Given the description of an element on the screen output the (x, y) to click on. 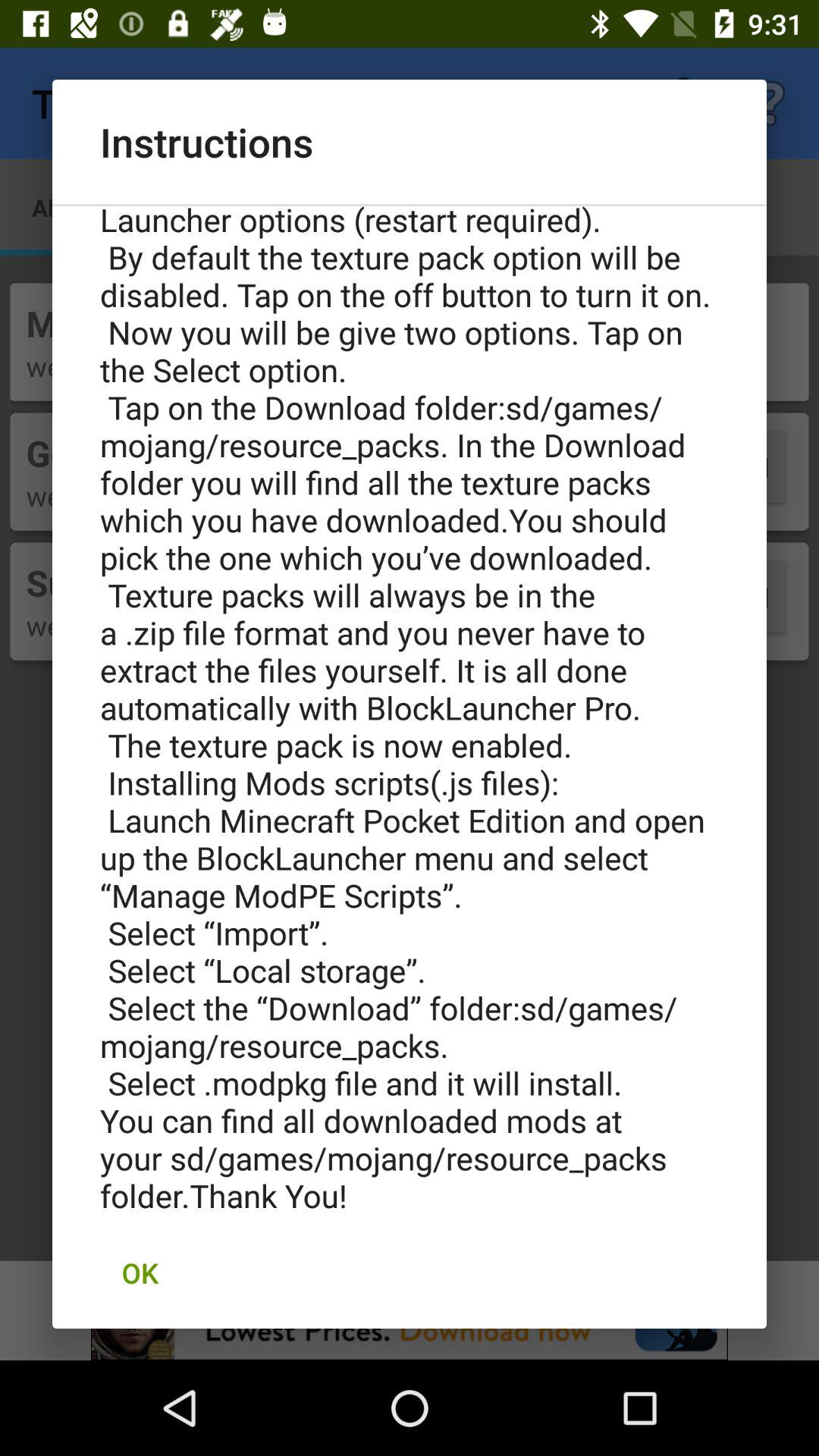
select ok at the bottom left corner (139, 1272)
